Given the description of an element on the screen output the (x, y) to click on. 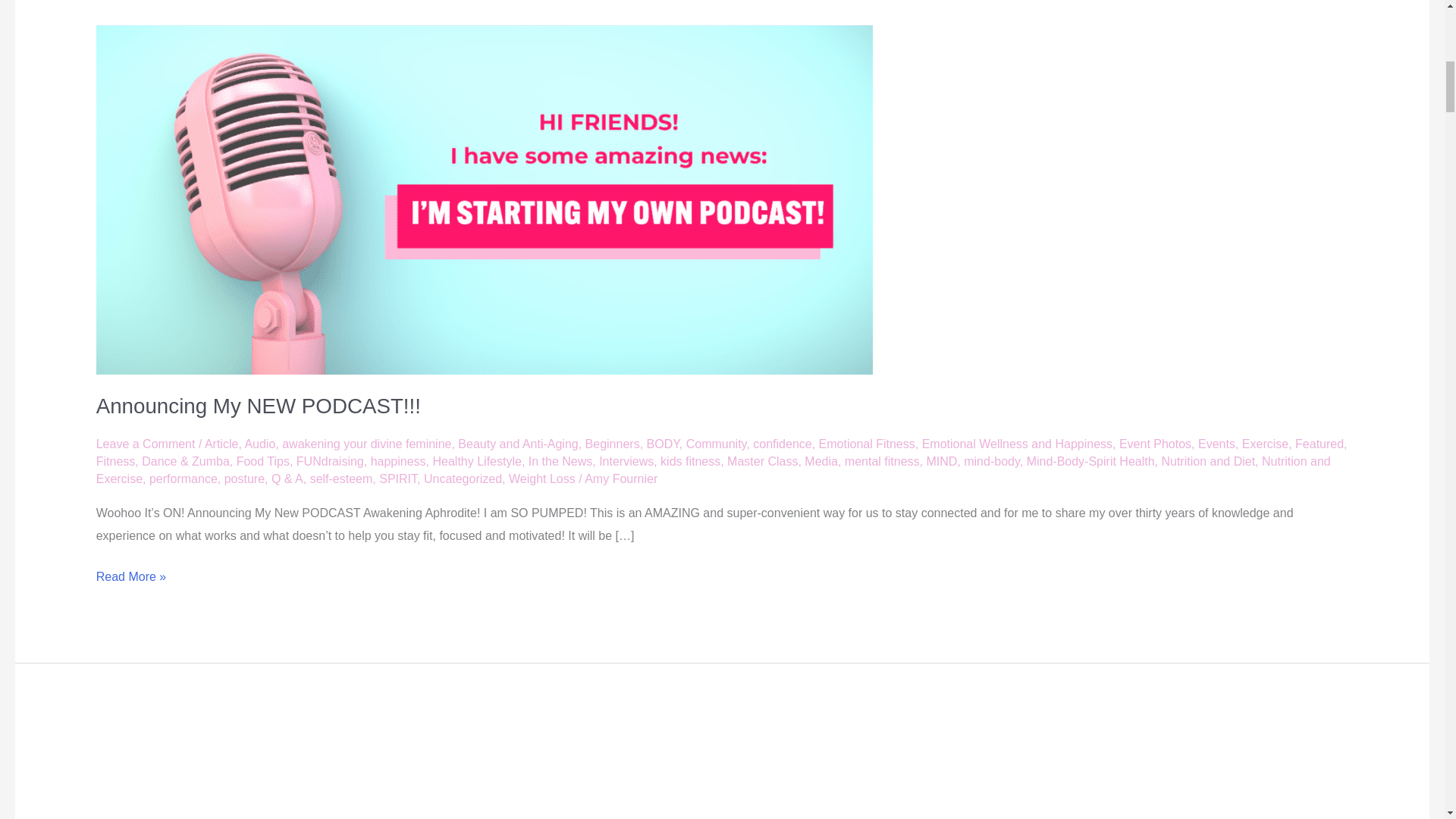
View all posts by Amy Fournier (621, 478)
